Given the description of an element on the screen output the (x, y) to click on. 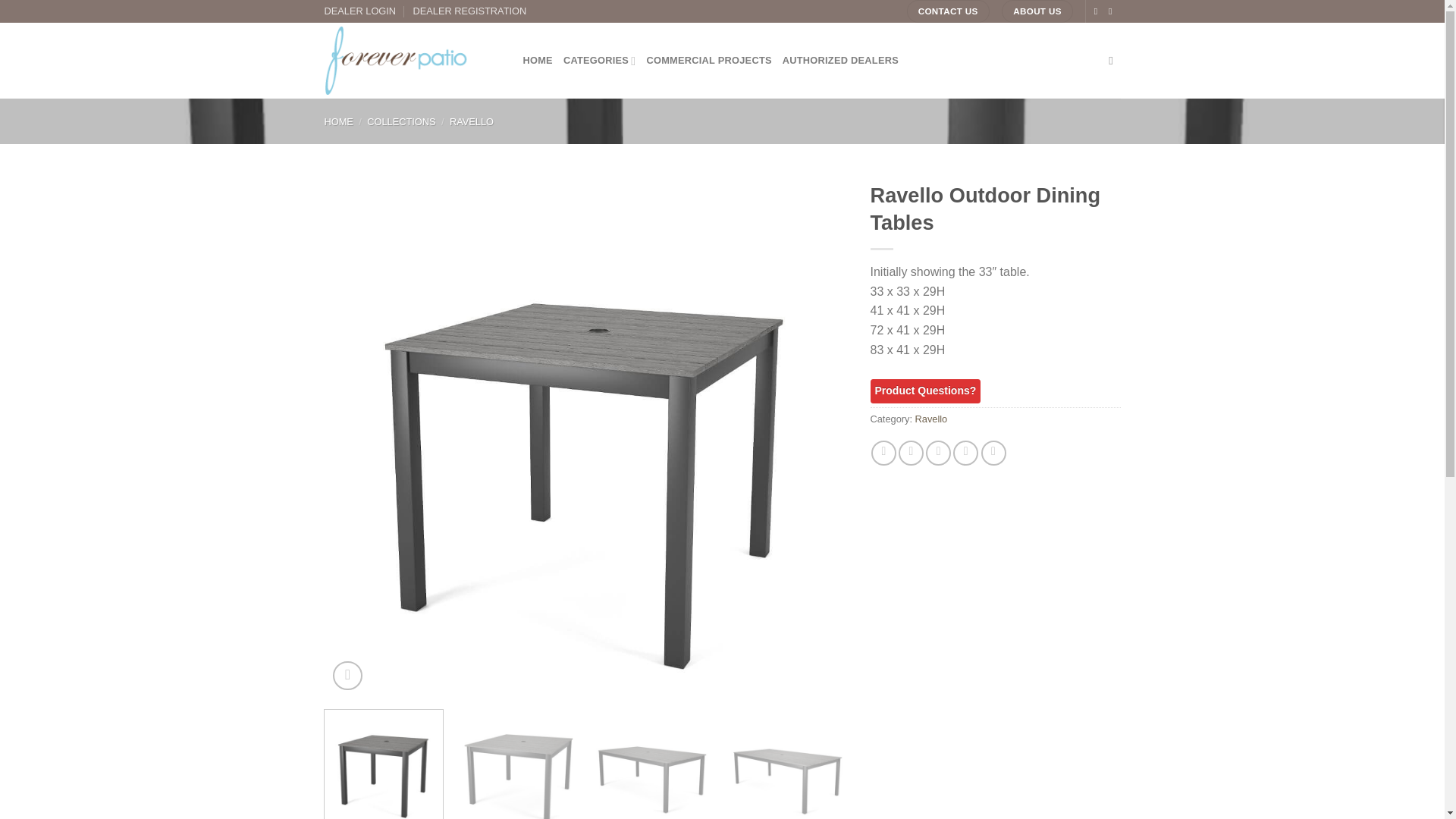
HOME (537, 60)
CATEGORIES (599, 60)
CONTACT US (948, 11)
Forever Patio - Outdoor Patio Furniture (412, 60)
Zoom (347, 675)
Email to a Friend (938, 453)
Pin on Pinterest (965, 453)
Share on LinkedIn (993, 453)
DEALER REGISTRATION (468, 11)
Share on Twitter (910, 453)
